Given the description of an element on the screen output the (x, y) to click on. 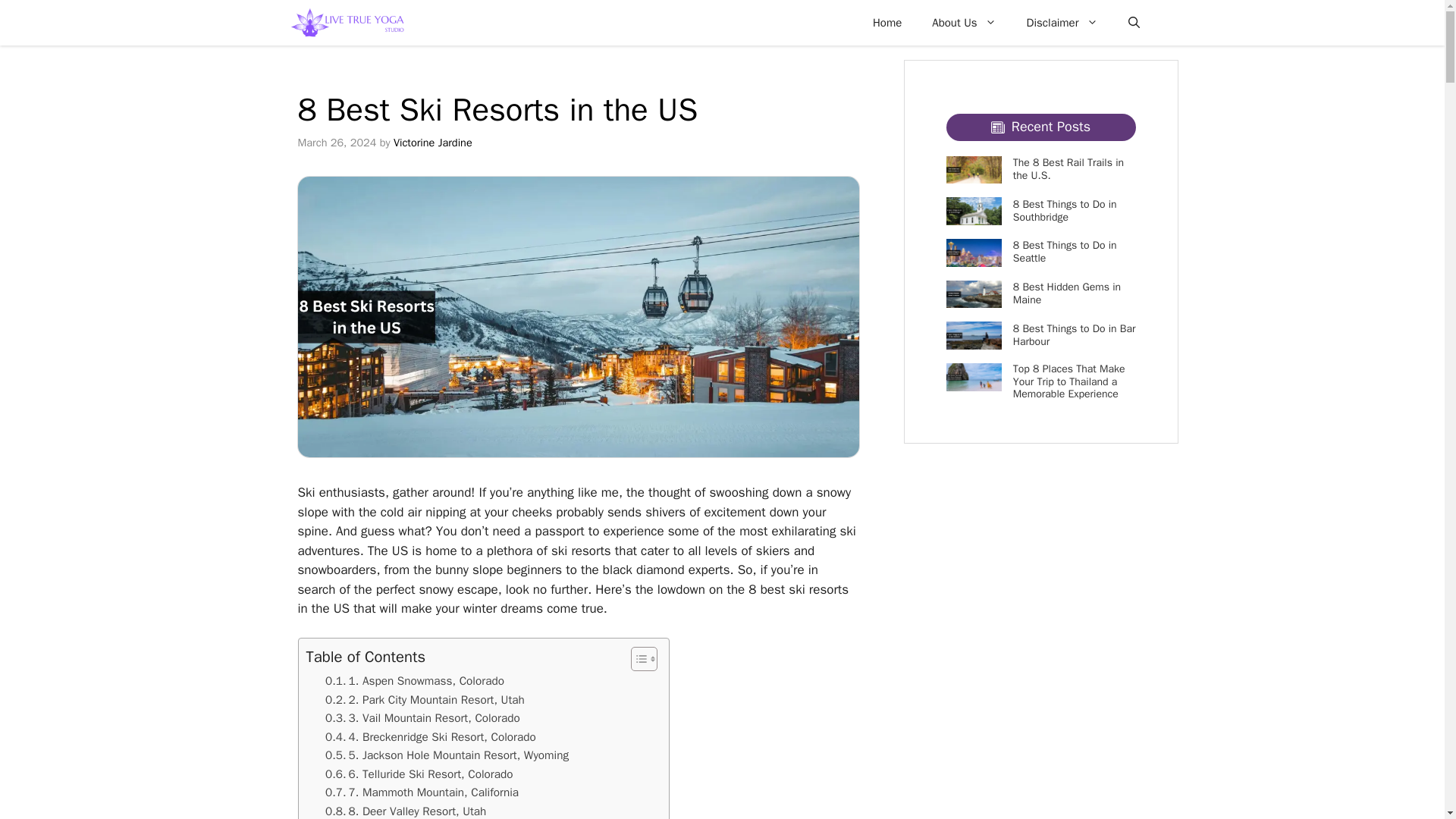
7. Mammoth Mountain, California (421, 791)
3. Vail Mountain Resort, Colorado (421, 718)
5. Jackson Hole Mountain Resort, Wyoming (446, 755)
8. Deer Valley Resort, Utah (405, 810)
5. Jackson Hole Mountain Resort, Wyoming (446, 755)
Live True Yoga (346, 22)
2. Park City Mountain Resort, Utah (424, 700)
Home (887, 22)
About Us (963, 22)
1. Aspen Snowmass, Colorado (413, 680)
